Given the description of an element on the screen output the (x, y) to click on. 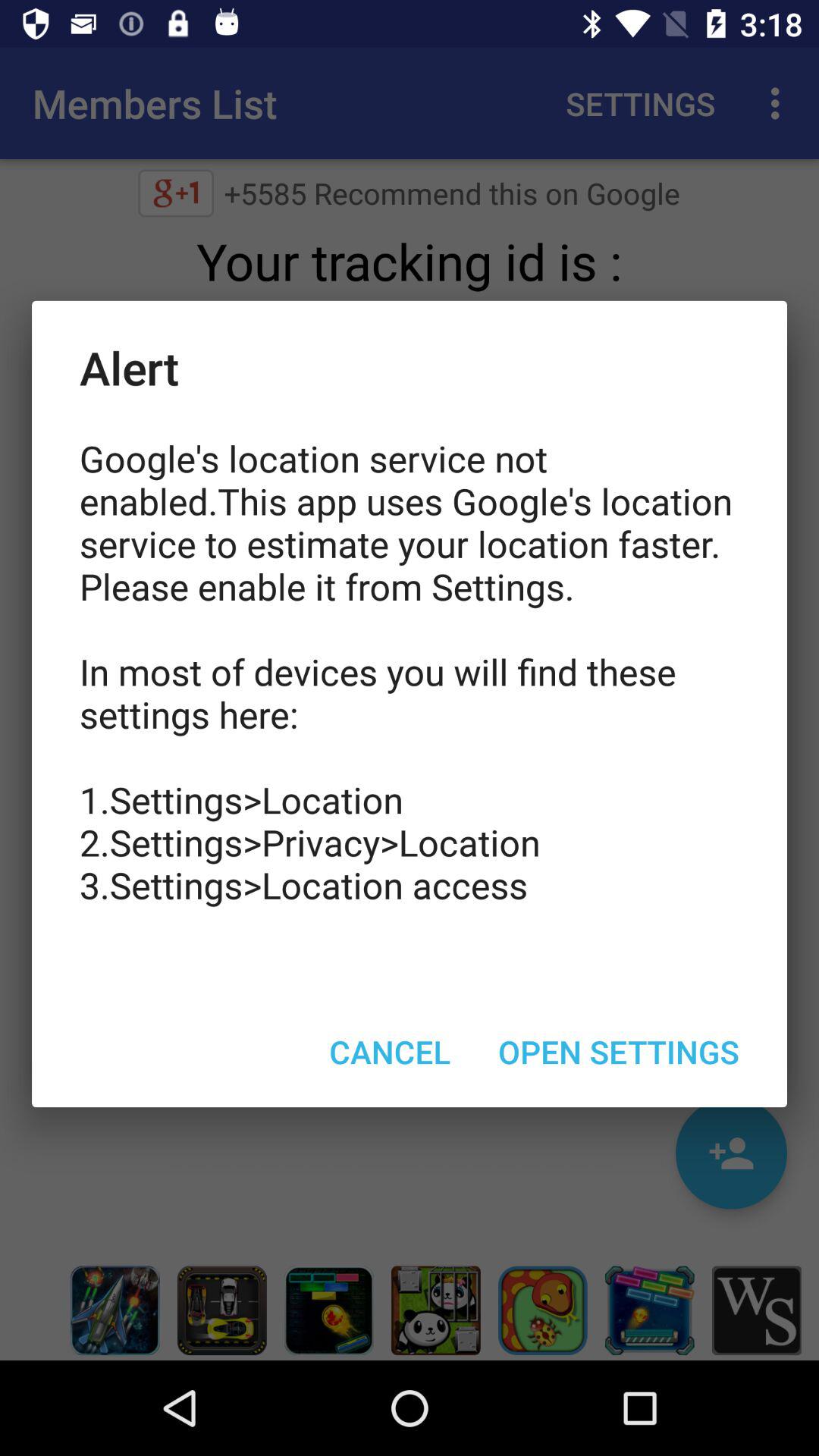
open the item at the bottom (389, 1051)
